Given the description of an element on the screen output the (x, y) to click on. 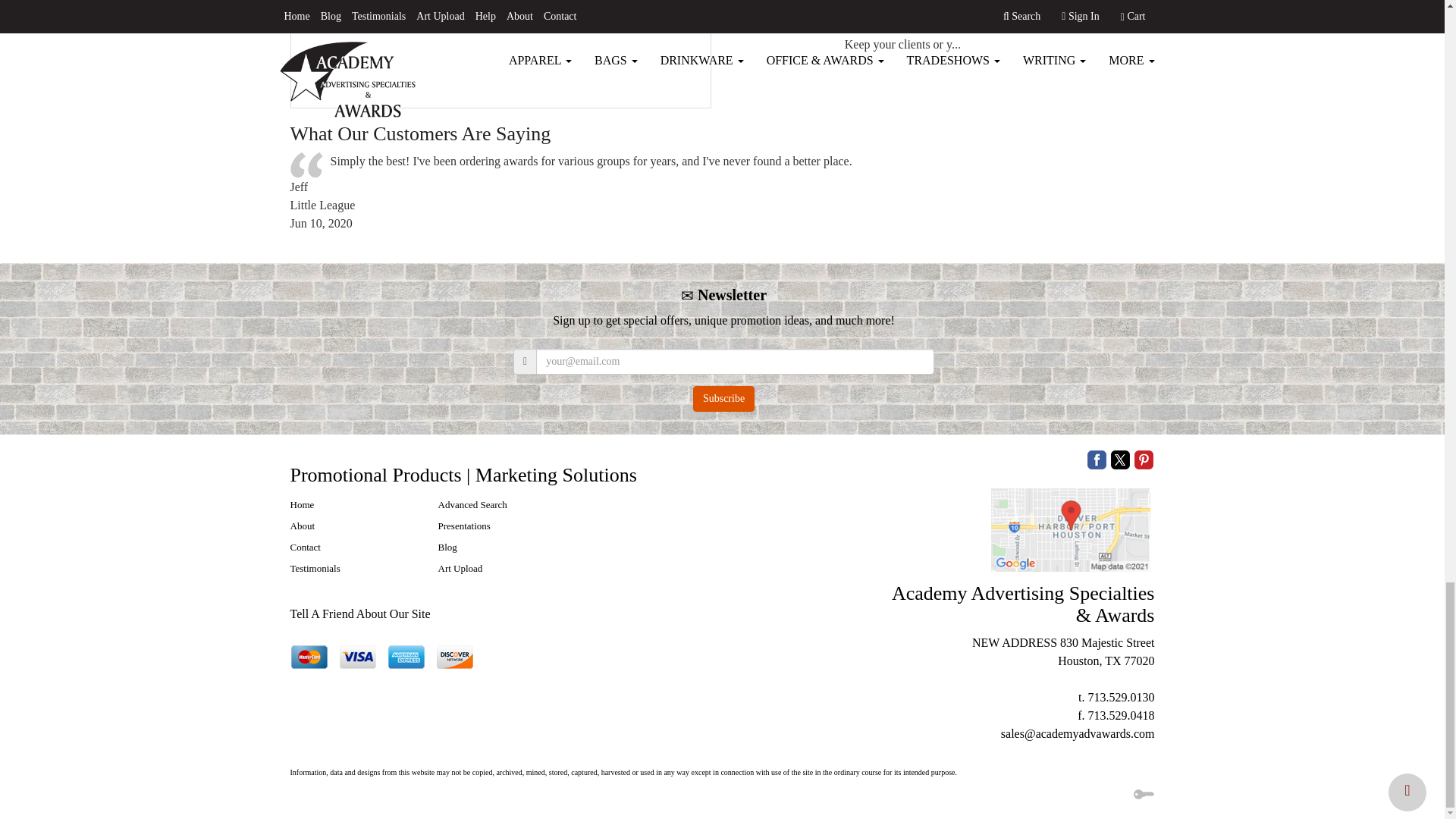
Visit us on Pinterest (1143, 458)
Visit us on Facebook (1096, 458)
Click for a larger map (1070, 529)
Subscribe (723, 398)
Visit us on Twitter (1119, 458)
